Given the description of an element on the screen output the (x, y) to click on. 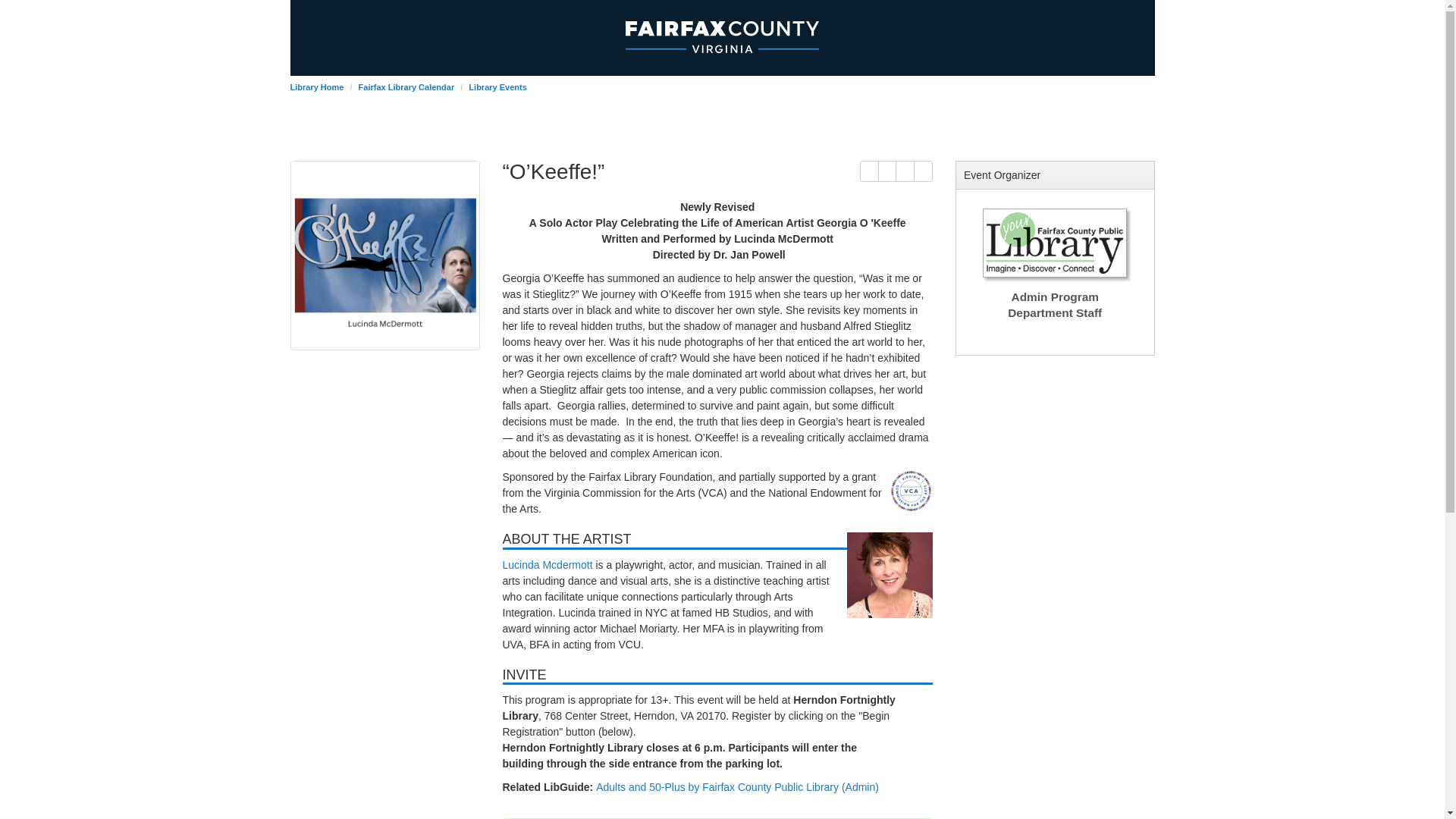
Fairfax Library Calendar (406, 86)
Print the page (869, 170)
Share page on Twitter (923, 170)
Library Home (316, 86)
Share page on Facebook (904, 170)
Lucinda Mcdermott (547, 564)
Library Events (496, 86)
Add to a Calendar using iCal (886, 170)
